Given the description of an element on the screen output the (x, y) to click on. 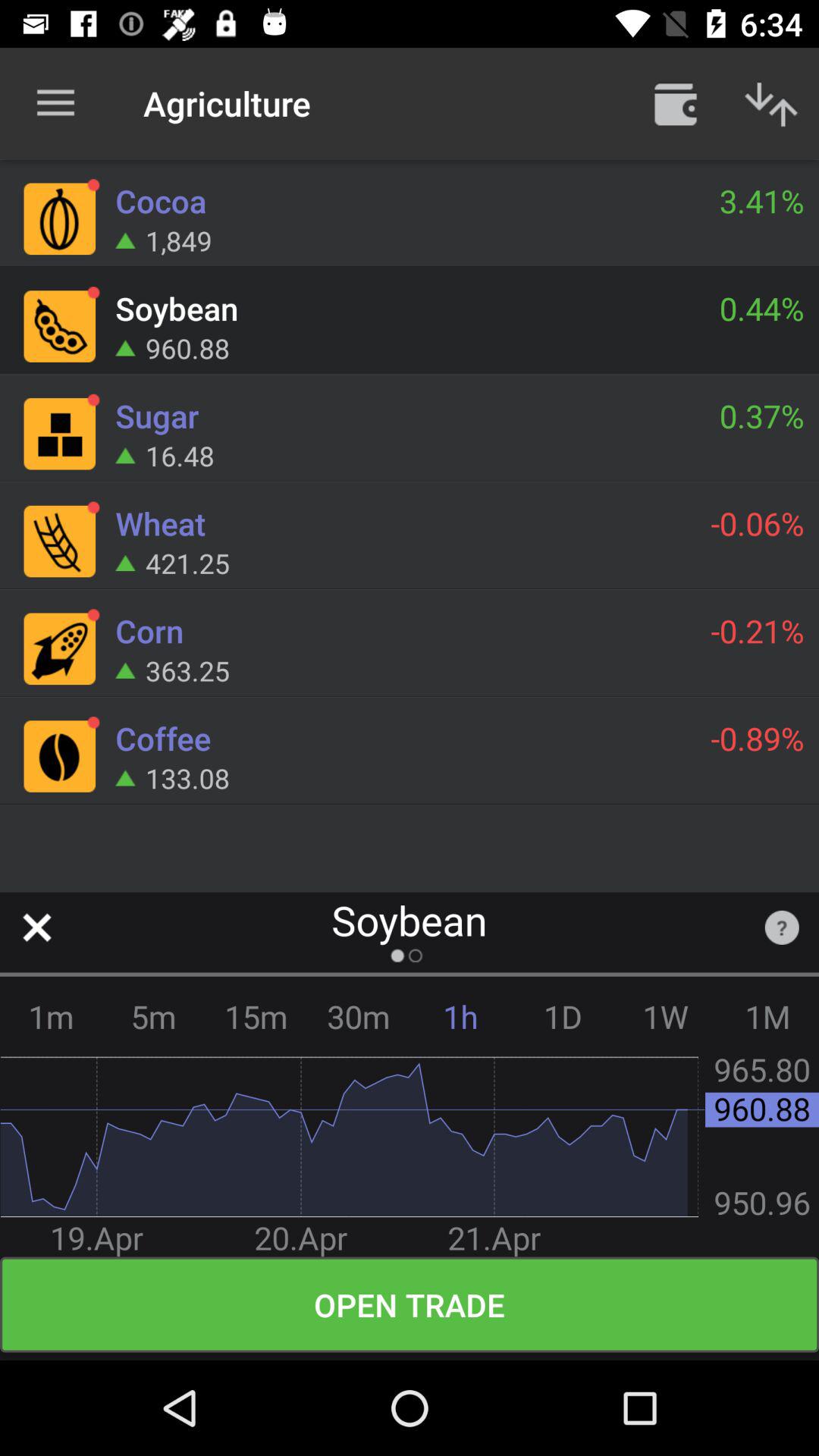
click the icon to the right of 1d (665, 1016)
